Given the description of an element on the screen output the (x, y) to click on. 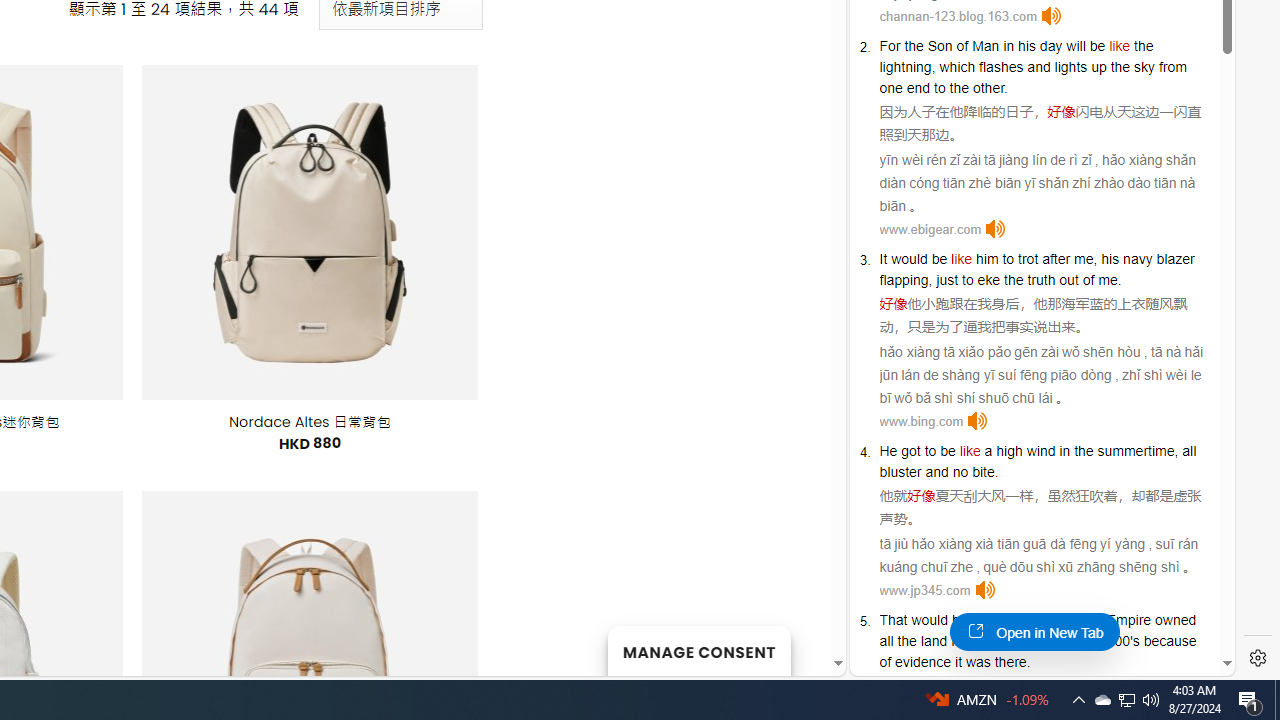
to (1008, 259)
all (886, 640)
got (911, 450)
. (1028, 661)
Click to listen (984, 590)
Son (939, 46)
out (1068, 280)
